Given the description of an element on the screen output the (x, y) to click on. 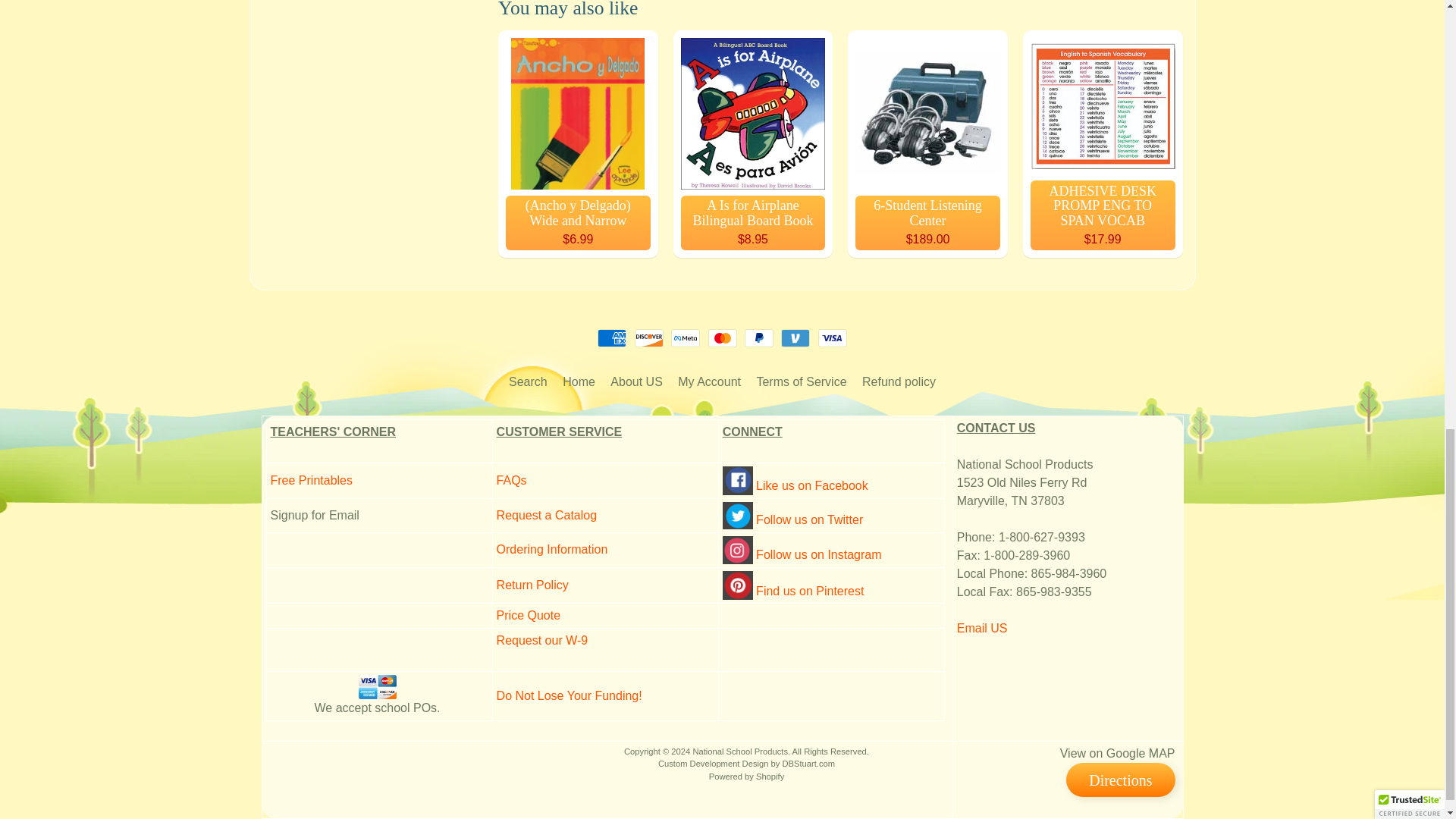
Visa (832, 338)
Request a Catalog (546, 514)
American Express (611, 338)
Meta Pay (685, 338)
Order Return Policy (532, 584)
Frequency Asked Questions (511, 480)
Discover (648, 338)
Free PDF Printables (310, 480)
Send for Price Quote (528, 615)
Mastercard (721, 338)
